Given the description of an element on the screen output the (x, y) to click on. 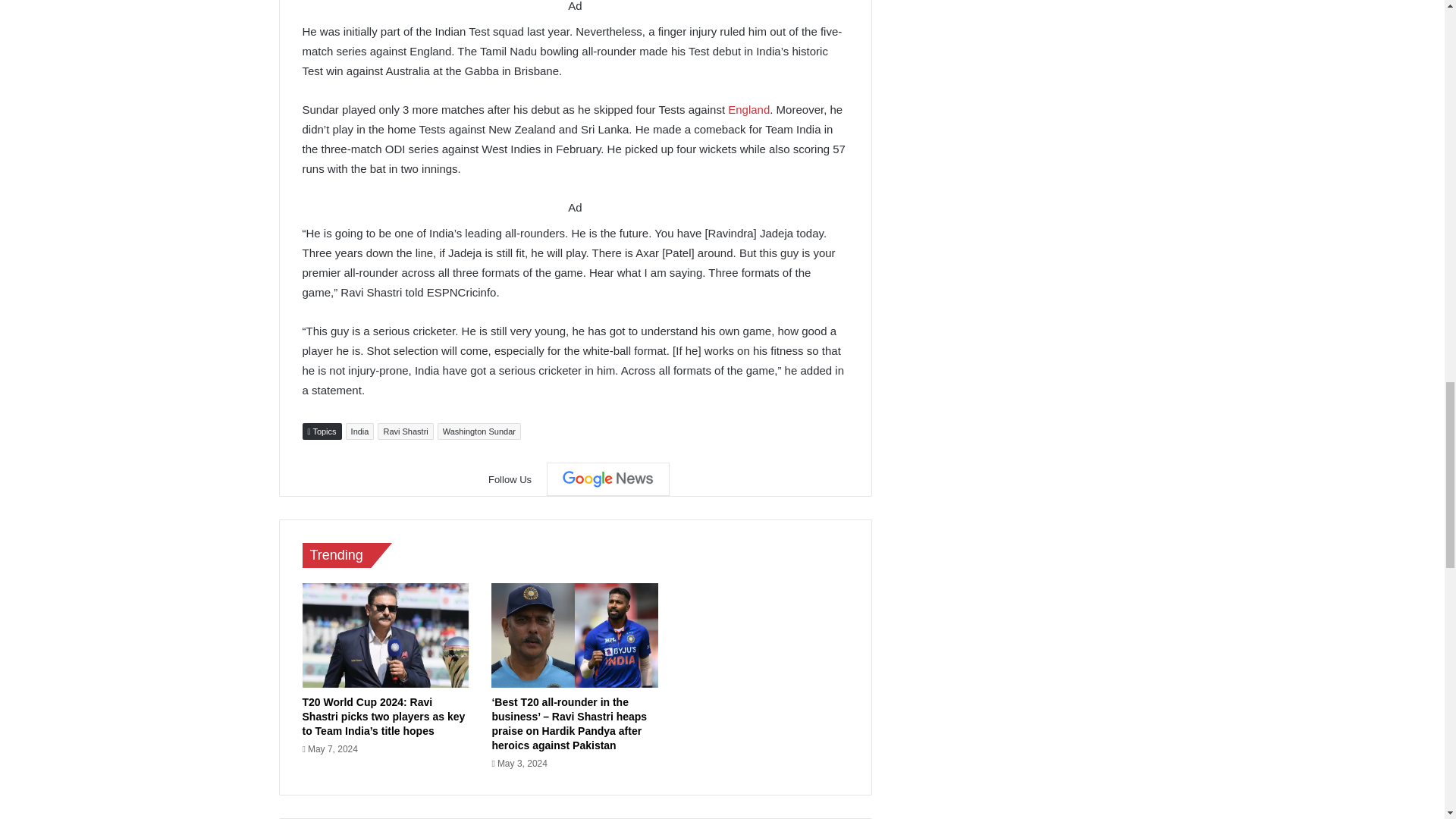
England (749, 109)
Google News (608, 479)
India (360, 431)
Washington Sundar (479, 431)
Ravi Shastri (404, 431)
